Given the description of an element on the screen output the (x, y) to click on. 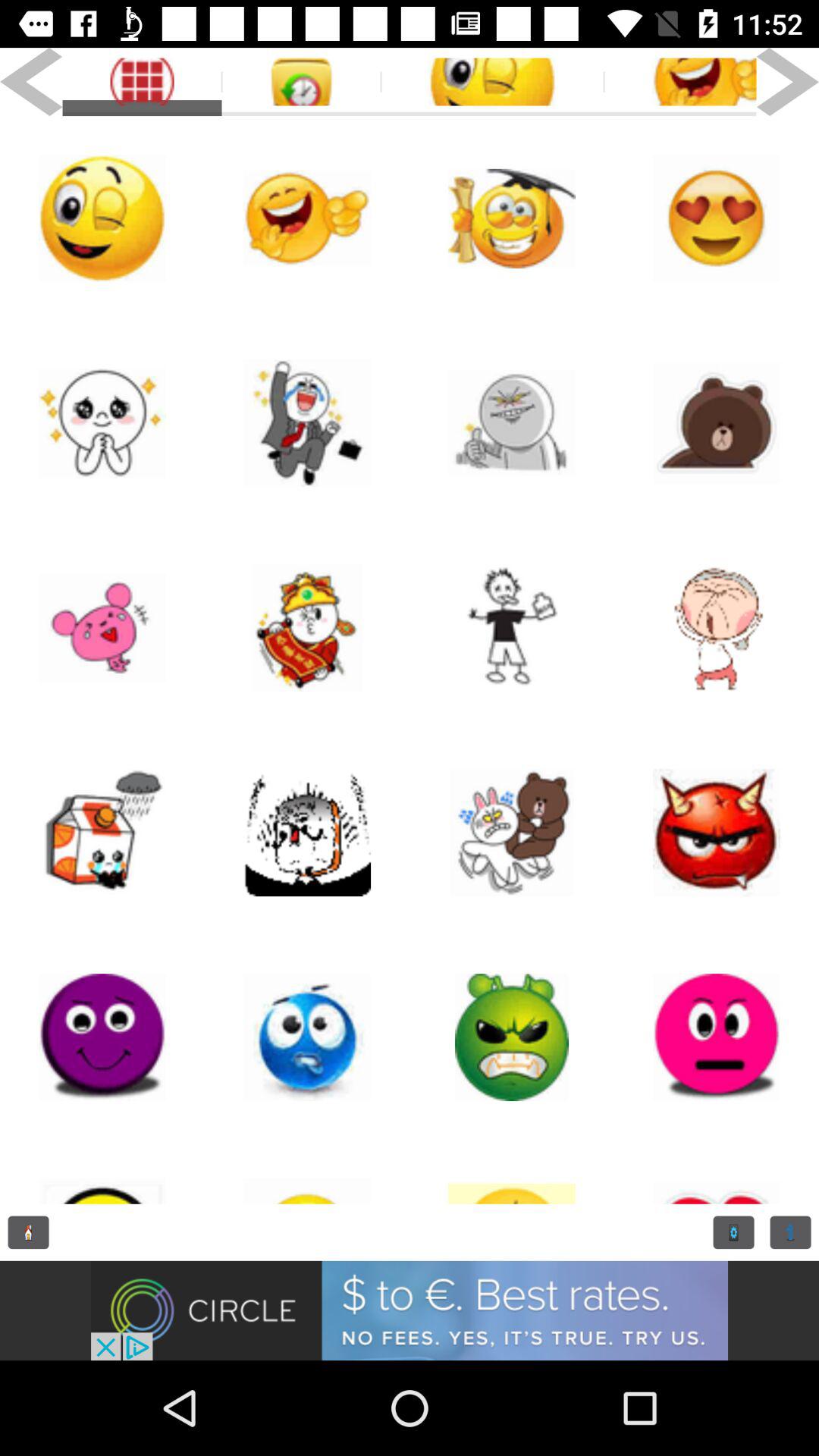
bear emoji (716, 422)
